Given the description of an element on the screen output the (x, y) to click on. 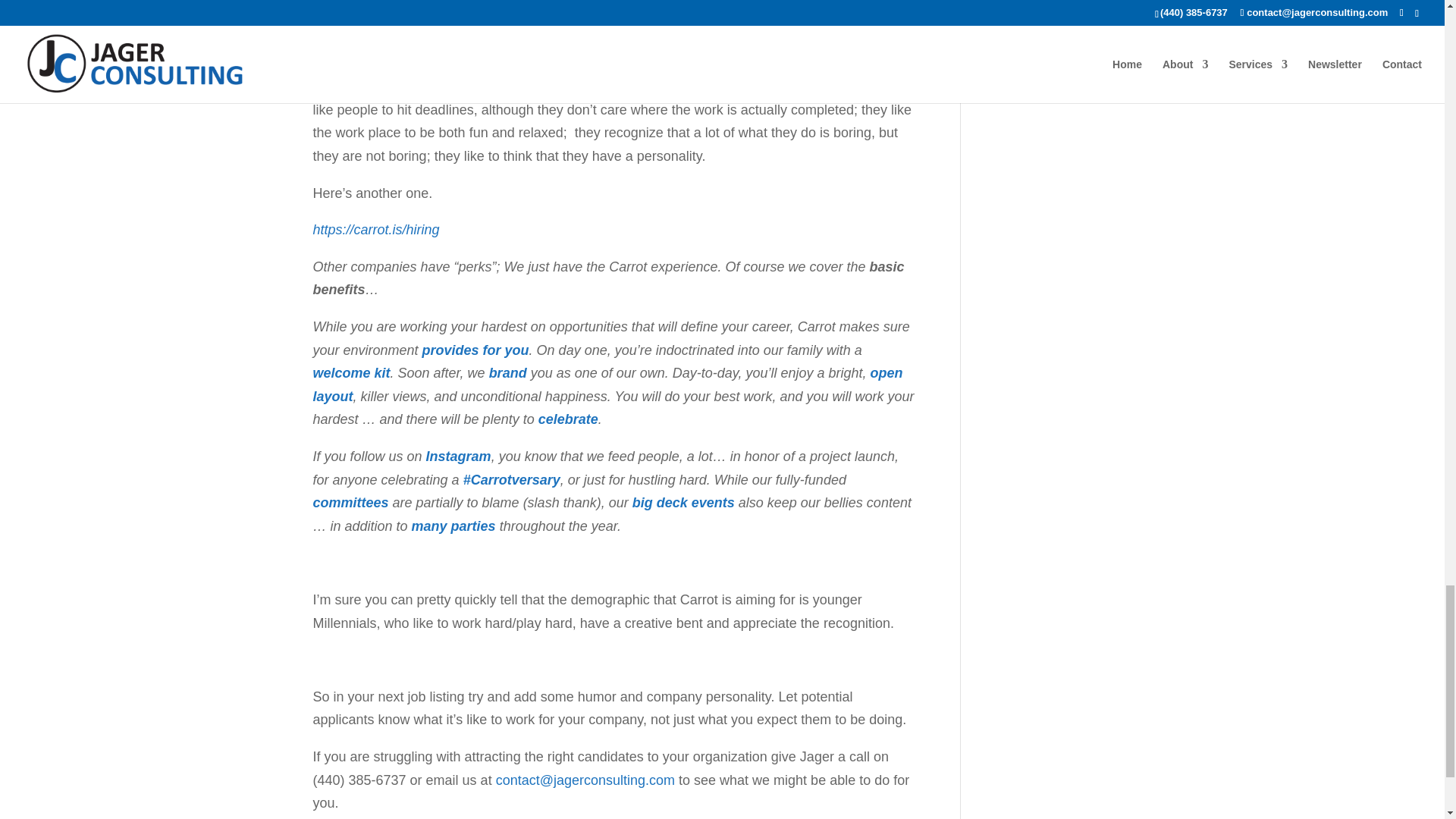
brand (508, 372)
Instagram (459, 456)
open layout (607, 384)
provides for you (475, 350)
celebrate (568, 418)
welcome kit (351, 372)
